Given the description of an element on the screen output the (x, y) to click on. 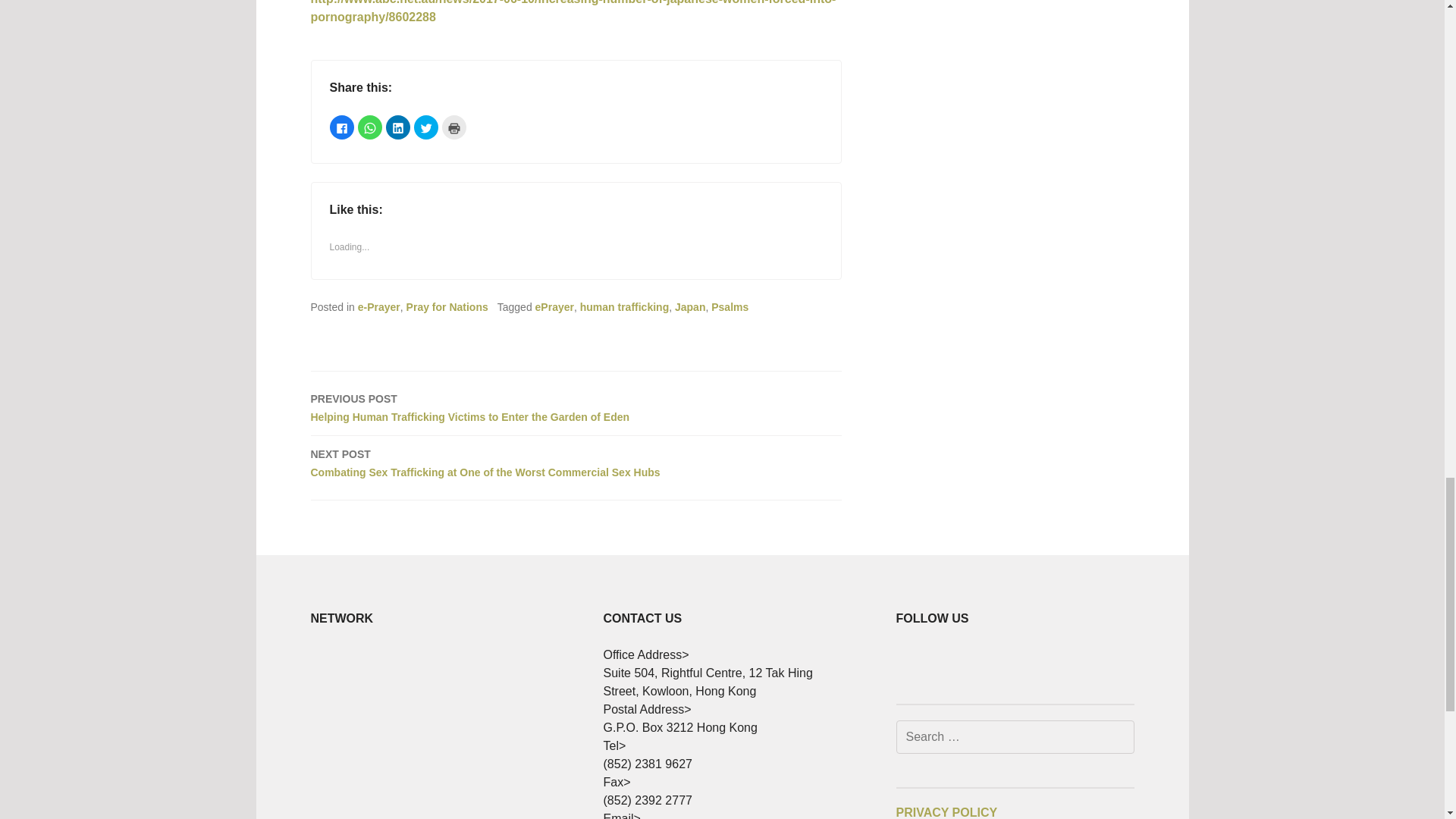
Click to print (453, 127)
Click to share on Facebook (341, 127)
Click to share on WhatsApp (369, 127)
Click to share on LinkedIn (397, 127)
Click to share on Twitter (425, 127)
